Given the description of an element on the screen output the (x, y) to click on. 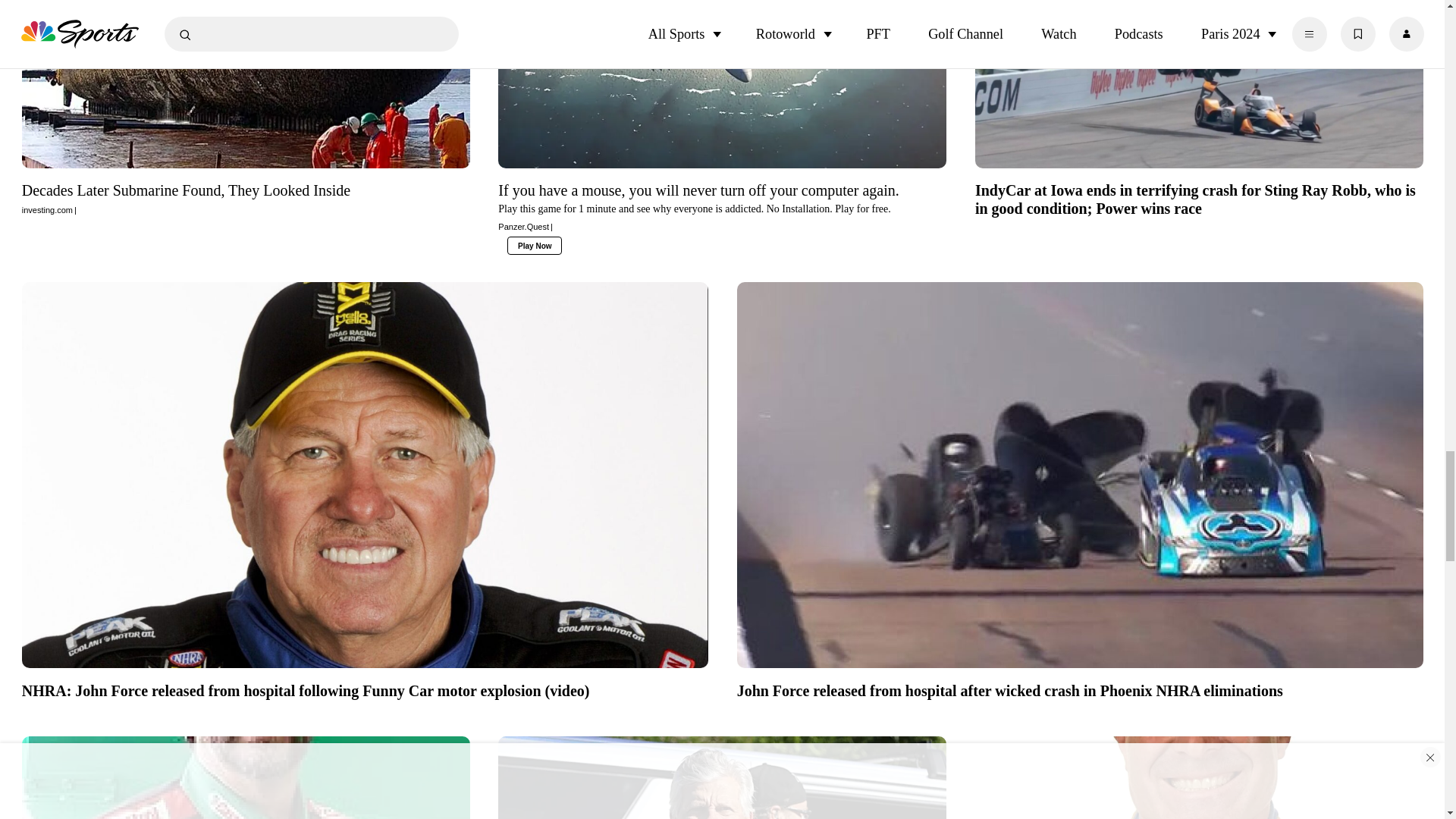
Decades Later Submarine Found, They Looked Inside (245, 88)
Decades Later Submarine Found, They Looked Inside (245, 198)
